Given the description of an element on the screen output the (x, y) to click on. 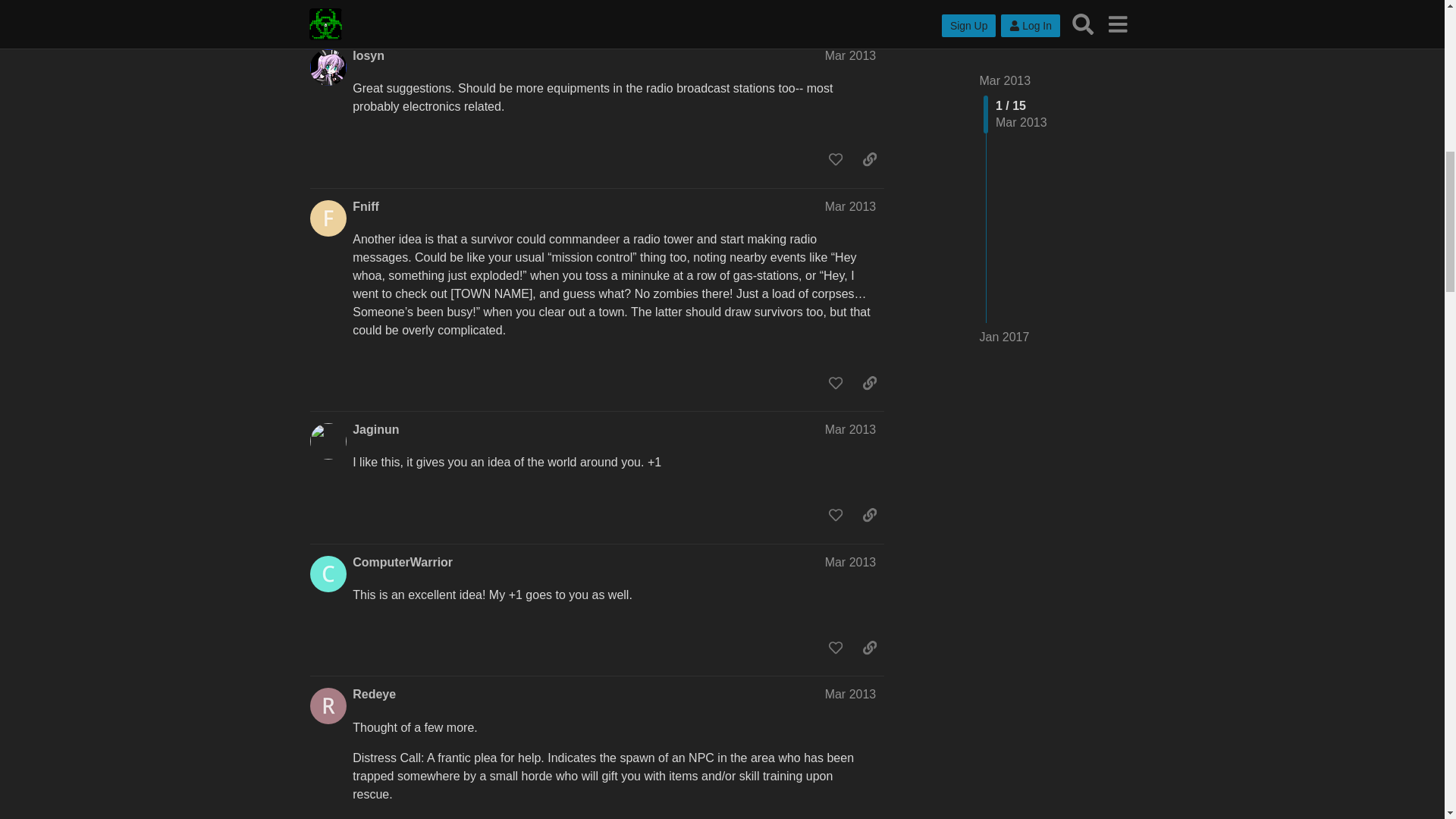
Fniff (365, 207)
Mar 2013 (850, 205)
Iosyn (368, 55)
Mar 2013 (850, 55)
